Given the description of an element on the screen output the (x, y) to click on. 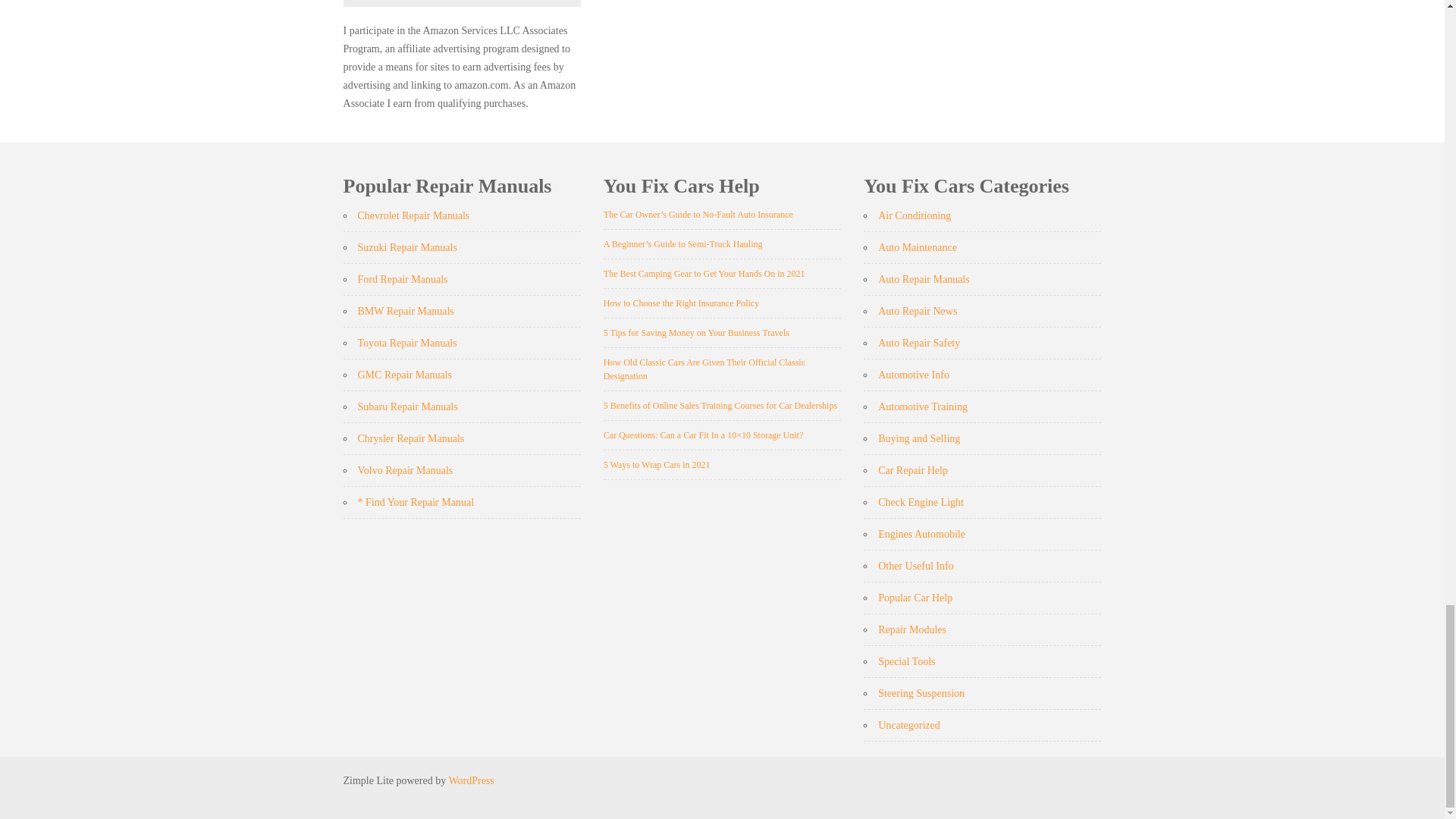
Permalink to How to Choose the Right Insurance Policy (681, 303)
